Given the description of an element on the screen output the (x, y) to click on. 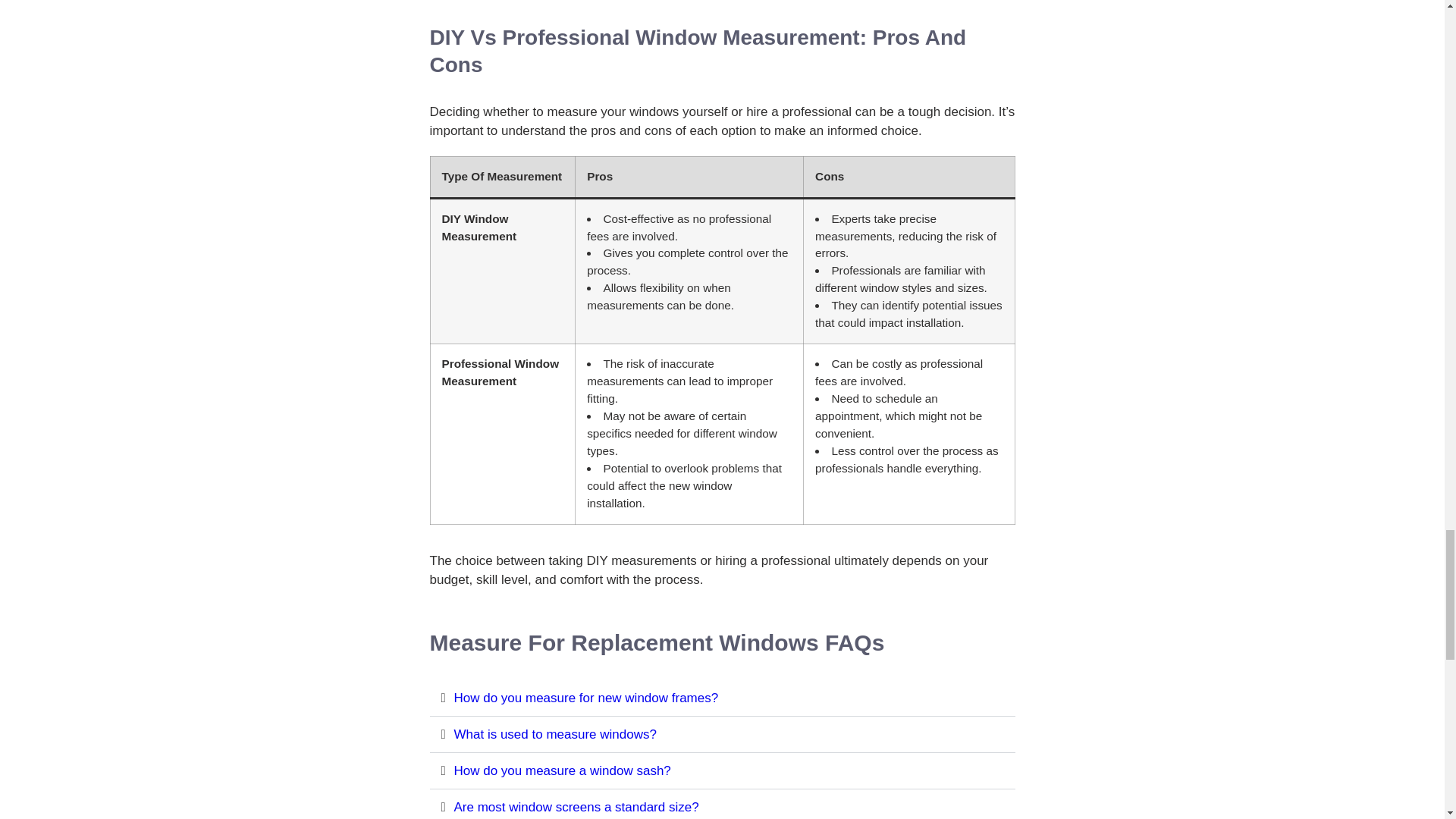
What is used to measure windows? (554, 734)
Are most window screens a standard size? (575, 807)
How do you measure for new window frames? (584, 698)
How do you measure a window sash? (560, 770)
